Given the description of an element on the screen output the (x, y) to click on. 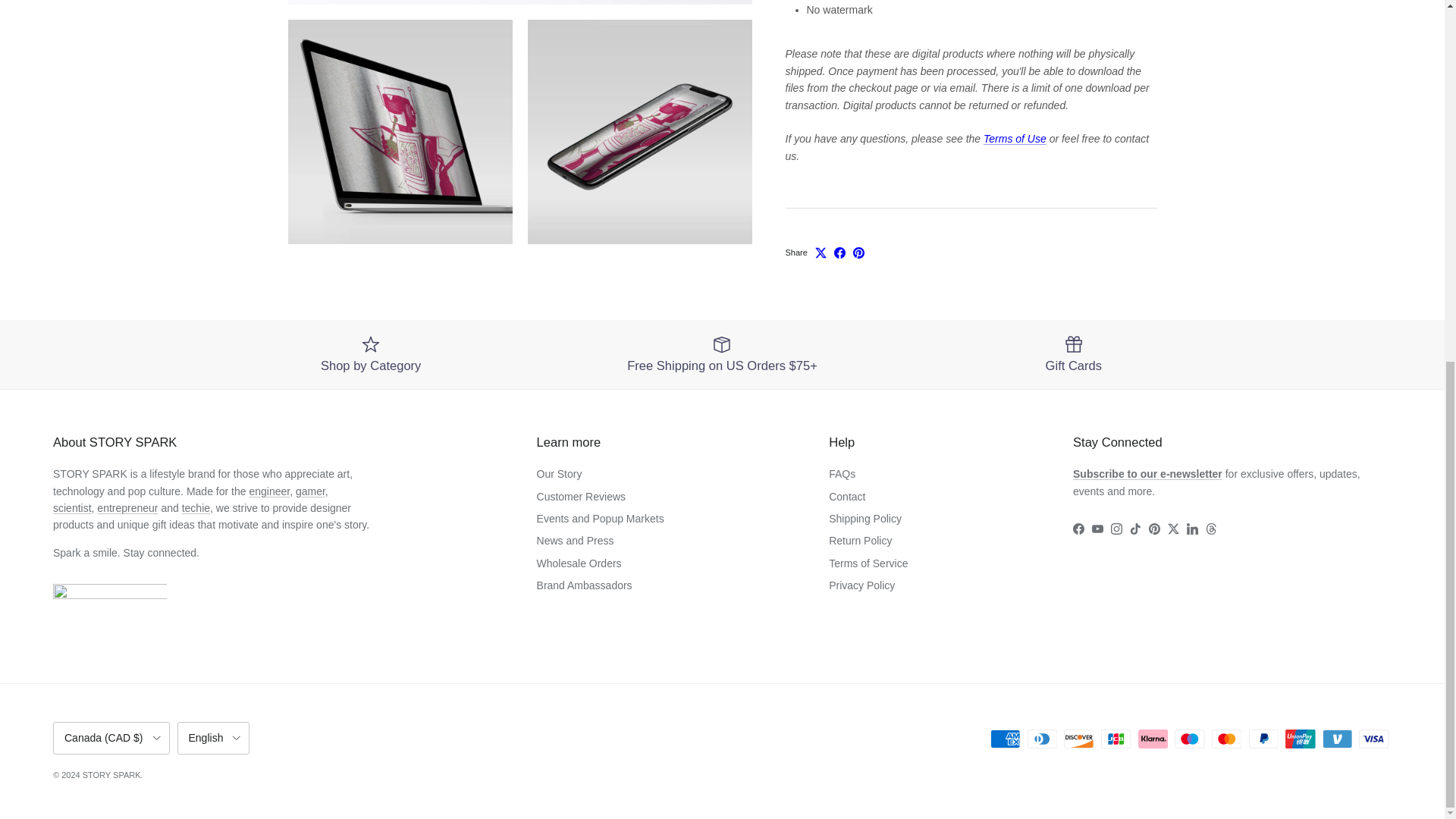
For Gamers (309, 491)
Engineering and Science (71, 508)
STORY SPARK on Twitter (1173, 528)
STORY SPARK on LinkedIn (1192, 528)
STORY SPARK on TikTok (1135, 528)
STORY SPARK on Threads (1211, 528)
STORY SPARK on Pinterest (1154, 528)
Engineering and Science (268, 491)
Tweet on X (821, 233)
Share on Facebook (839, 233)
Entrepreneurship (127, 508)
Pin on Pinterest (858, 233)
STORY SPARK on Instagram (1116, 528)
STORY SPARK on YouTube (1097, 528)
STORY SPARK on Facebook (1078, 528)
